Given the description of an element on the screen output the (x, y) to click on. 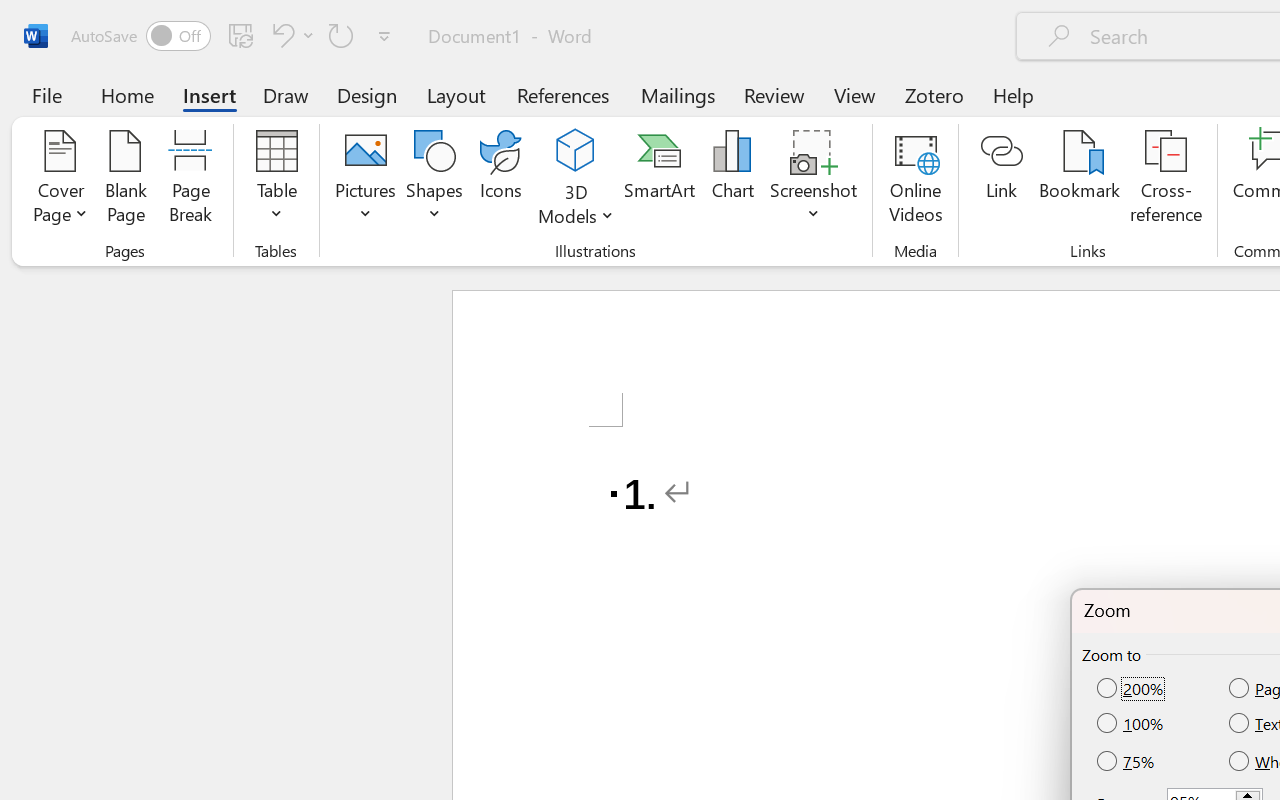
Shapes (435, 179)
Table (276, 179)
200% (1131, 689)
Bookmark... (1079, 179)
Icons (500, 179)
Undo Number Default (290, 35)
100% (1131, 723)
Blank Page (125, 179)
